Given the description of an element on the screen output the (x, y) to click on. 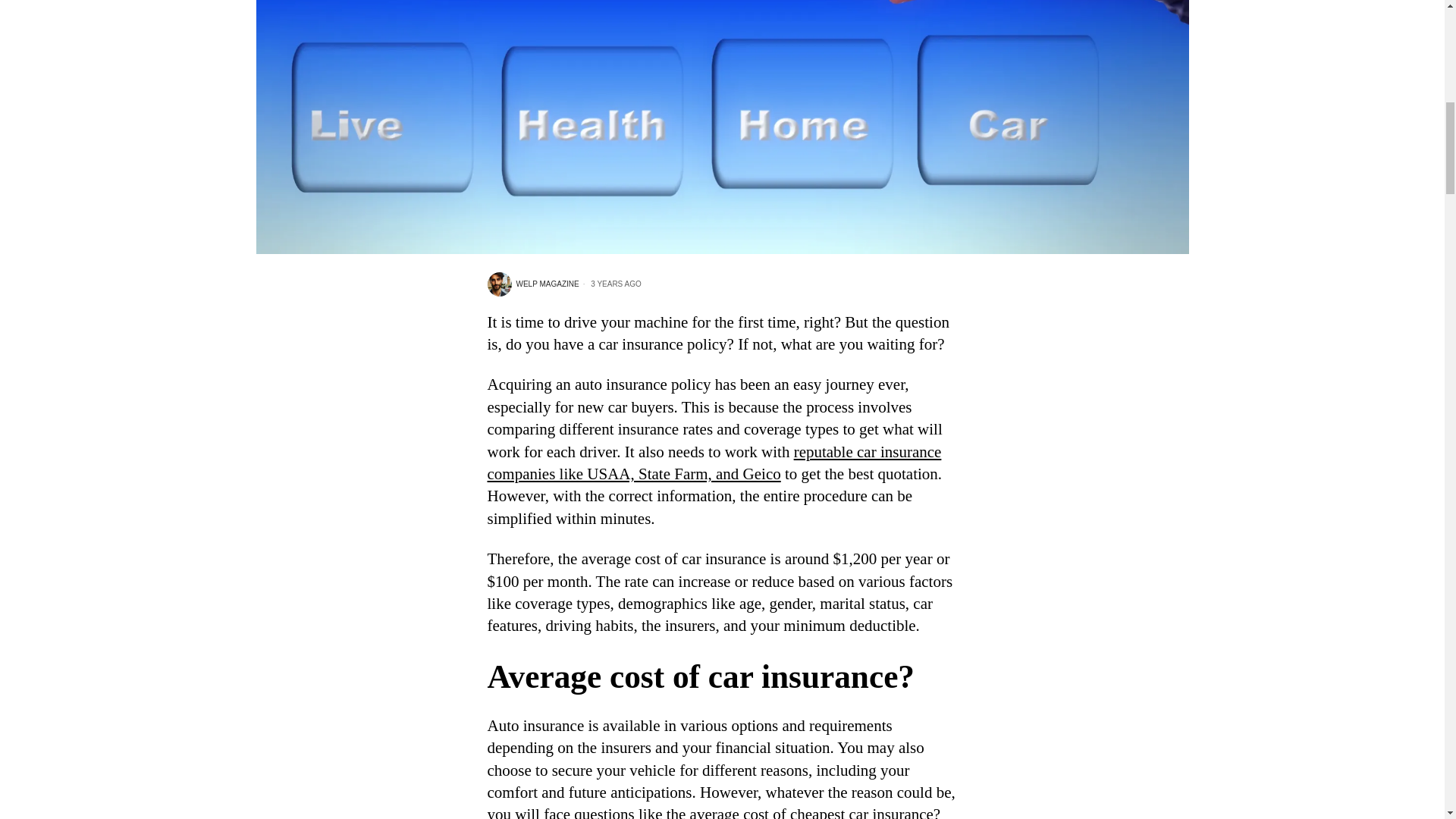
cheapest car insurance (861, 812)
29 Jul, 2021 00:18:34 (610, 284)
WELP MAGAZINE (532, 283)
